Given the description of an element on the screen output the (x, y) to click on. 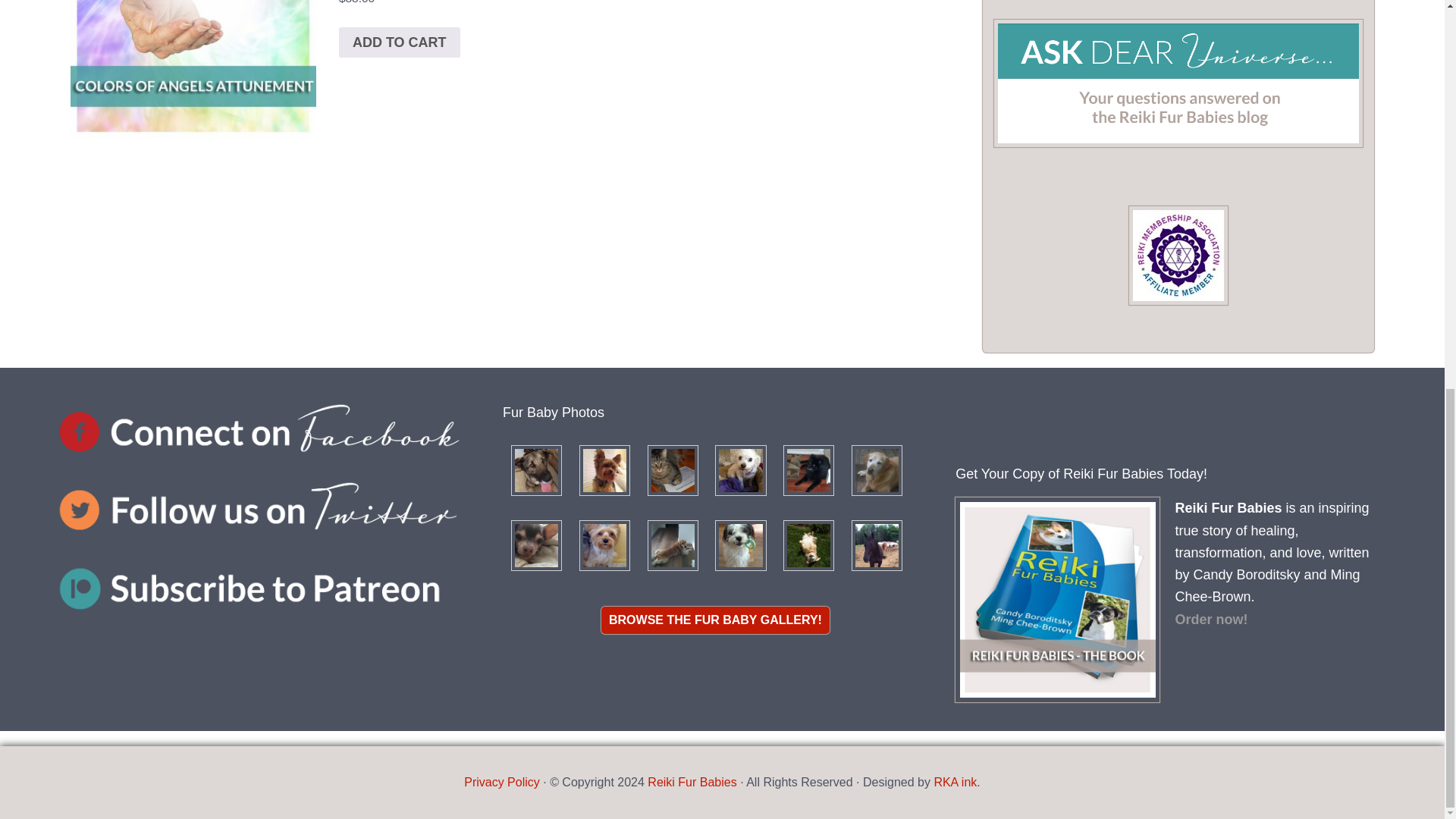
Privacy Policy (502, 781)
BROWSE THE FUR BABY GALLERY! (715, 619)
Order now! (1210, 619)
ADD TO CART (399, 42)
